Given the description of an element on the screen output the (x, y) to click on. 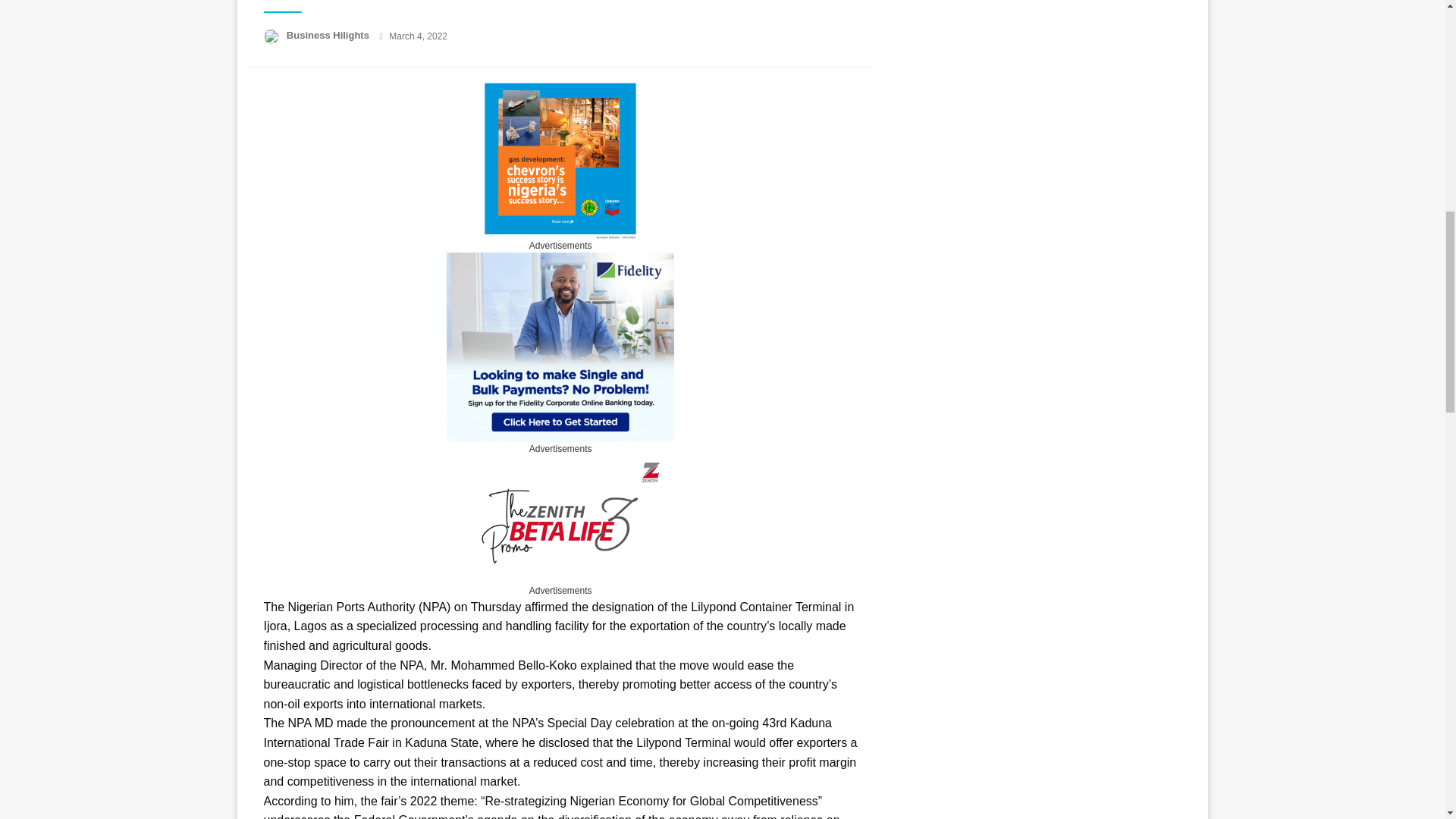
March 4, 2022 (417, 36)
Business Hilights (329, 34)
Business Hilights (329, 34)
